Given the description of an element on the screen output the (x, y) to click on. 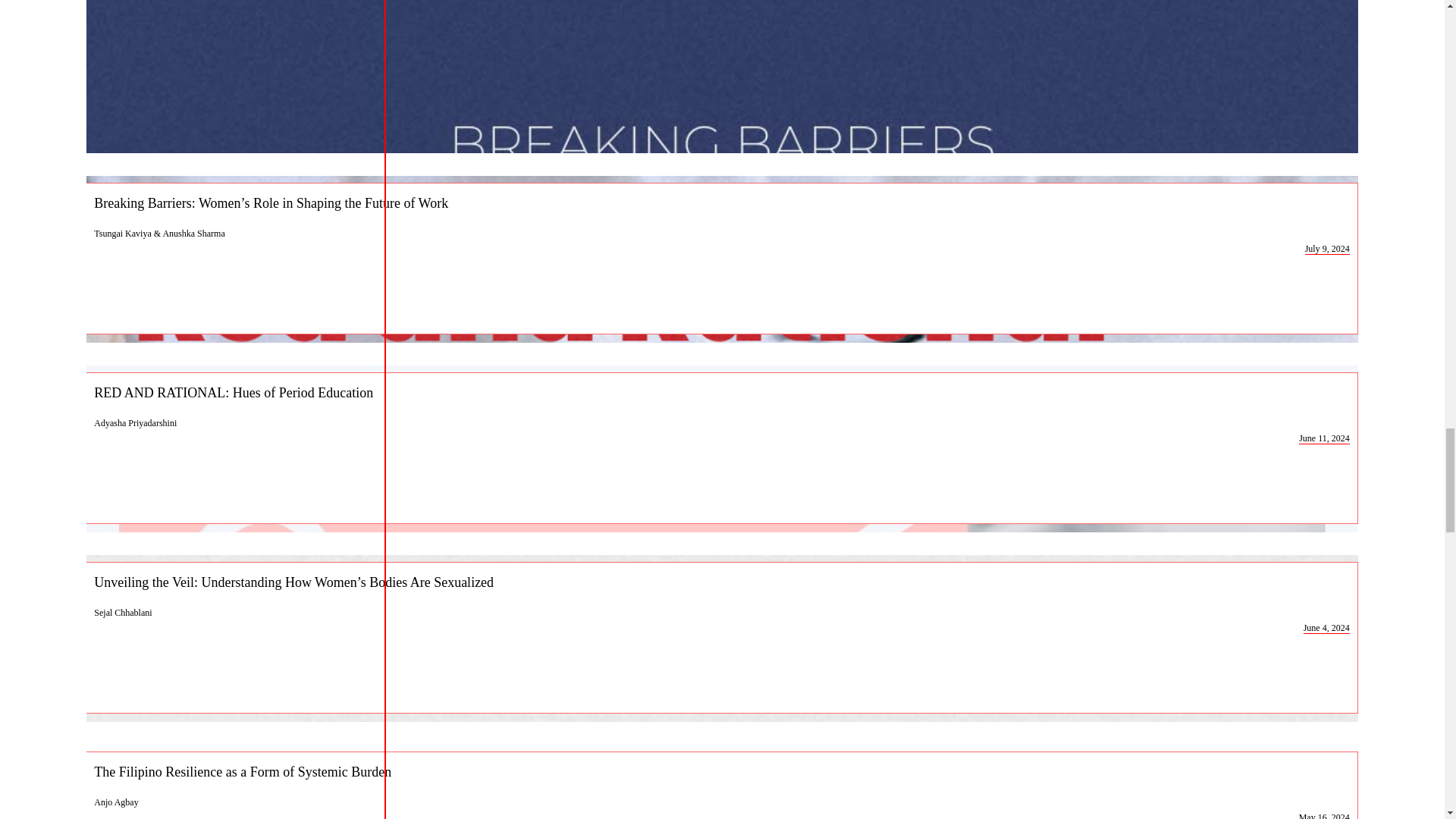
June 11, 2024 (1323, 438)
July 9, 2024 (1326, 248)
June 4, 2024 (1326, 627)
RED AND RATIONAL: Hues of Period Education (721, 392)
The Filipino Resilience as a Form of Systemic Burden (721, 771)
